Given the description of an element on the screen output the (x, y) to click on. 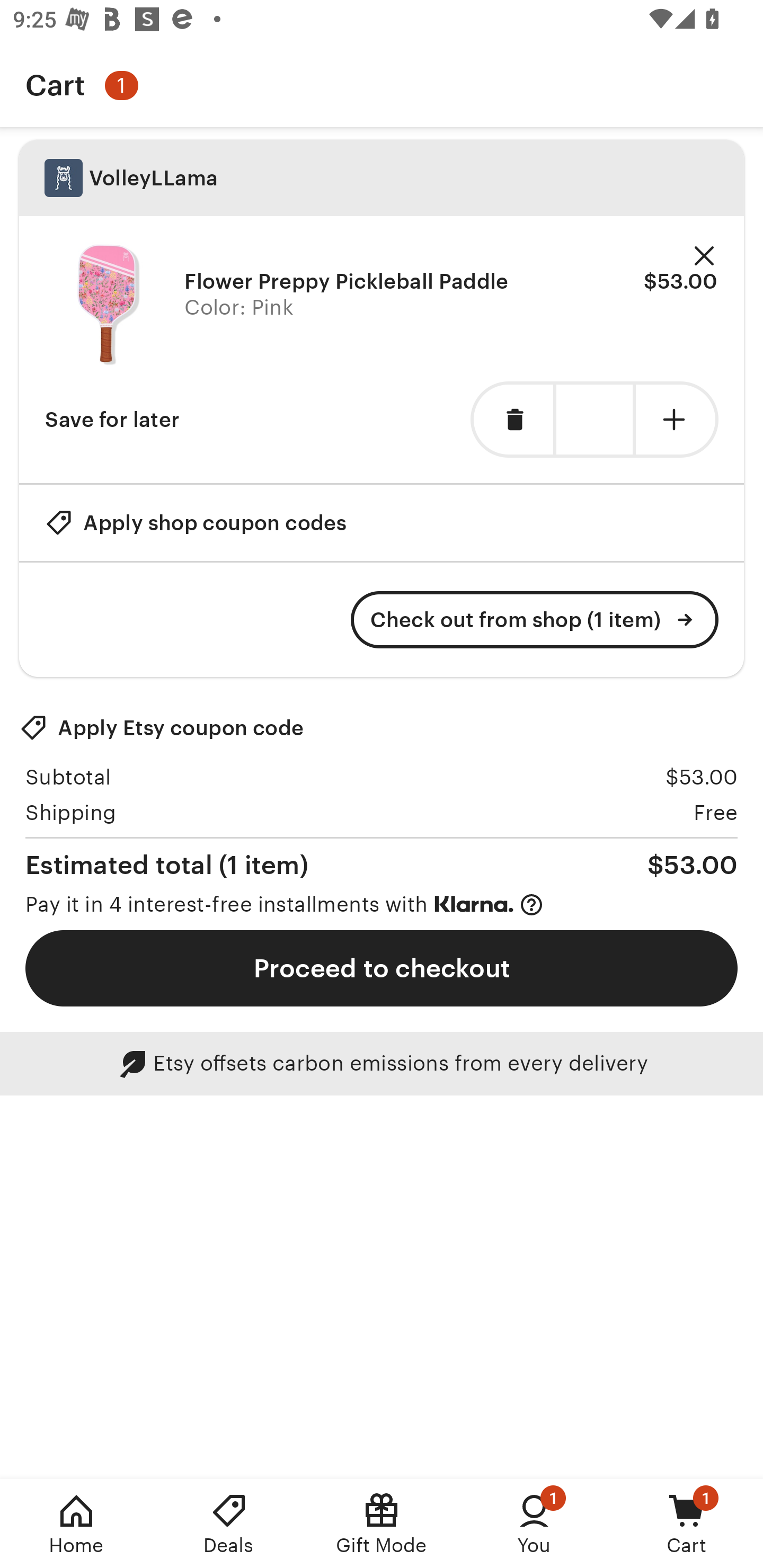
VolleyLLama (381, 177)
Remove (704, 255)
Flower Preppy Pickleball Paddle (107, 304)
Flower Preppy Pickleball Paddle (346, 281)
Save for later (112, 419)
Remove item from cart (511, 419)
Add one unit to cart (676, 419)
Apply shop coupon codes (195, 522)
Check out from shop (1 item) (534, 619)
Apply Etsy coupon code (161, 727)
Proceed to checkout (381, 967)
Home (76, 1523)
Deals (228, 1523)
Gift Mode (381, 1523)
You, 1 new notification You (533, 1523)
